Given the description of an element on the screen output the (x, y) to click on. 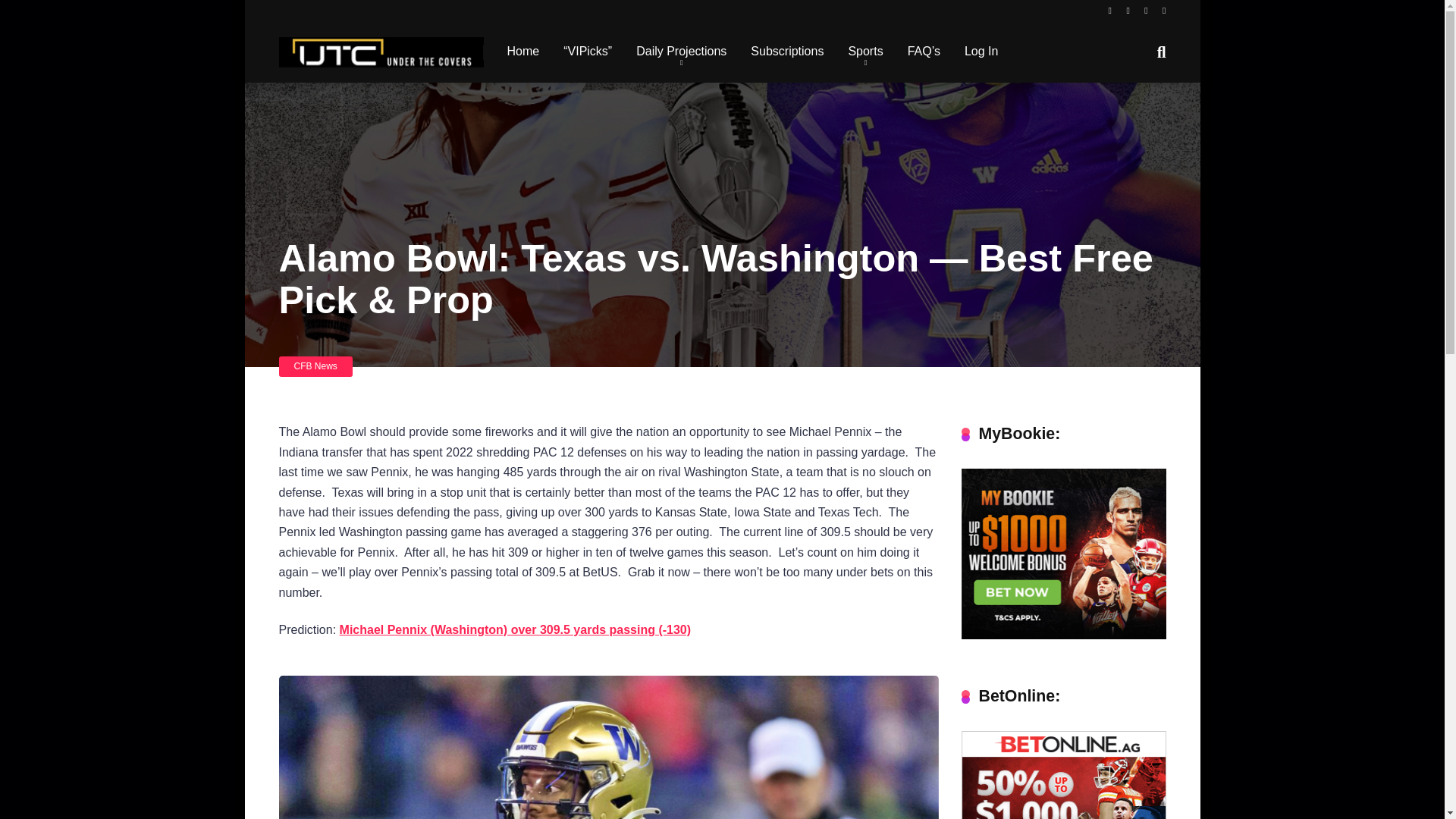
Home (523, 52)
Under The Covers (381, 46)
Daily Projections (681, 52)
Subscriptions (786, 52)
Sports (865, 52)
CFB News (315, 366)
Log In (981, 52)
